Given the description of an element on the screen output the (x, y) to click on. 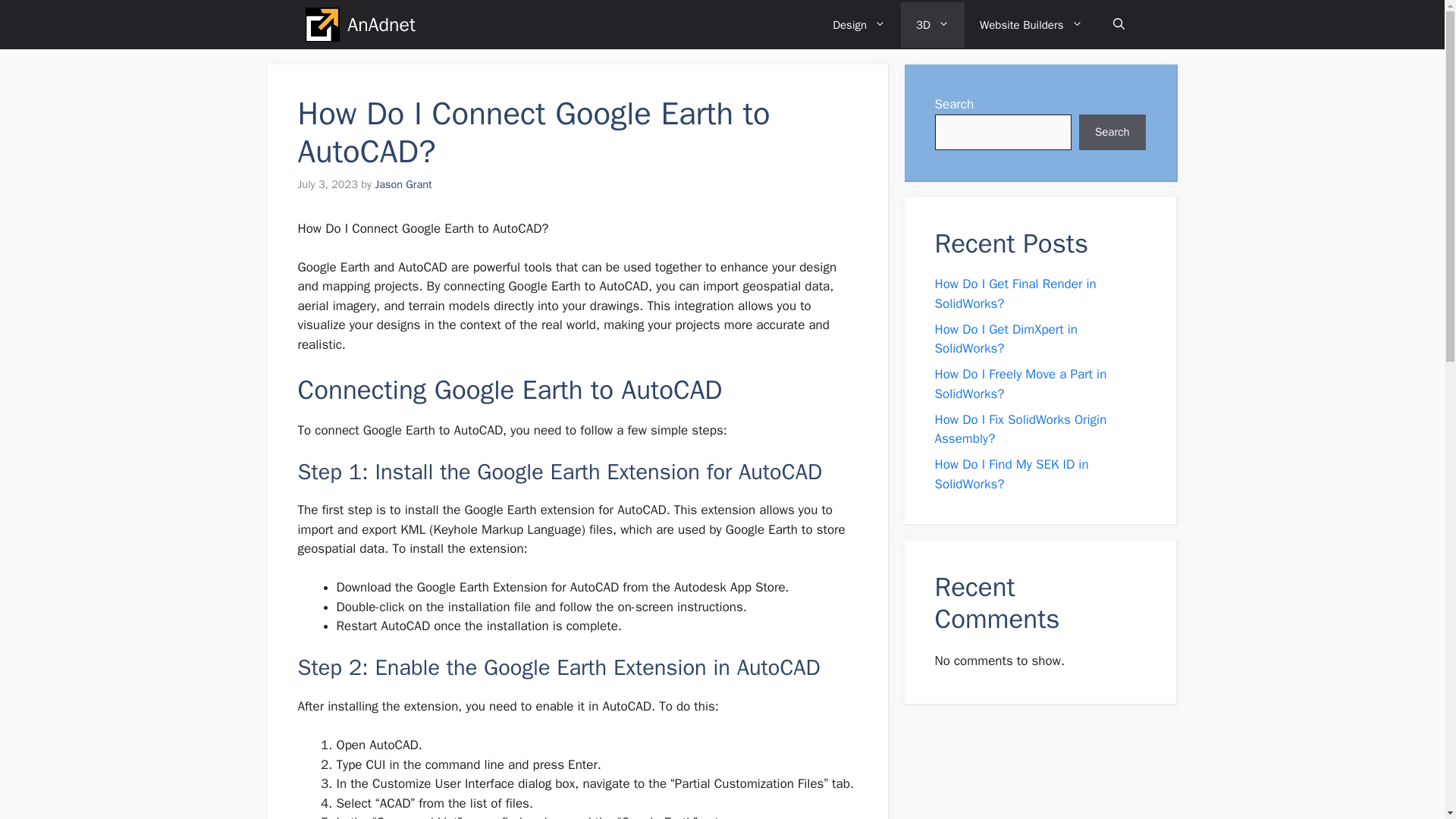
Website Builders (1030, 23)
How Do I Get Final Render in SolidWorks? (1015, 294)
View all posts by Jason Grant (402, 183)
AnAdnet (380, 24)
Design (858, 23)
How Do I Get DimXpert in SolidWorks? (1005, 339)
How Do I Find My SEK ID in SolidWorks? (1010, 474)
How Do I Freely Move a Part in SolidWorks? (1020, 384)
Search (1111, 131)
Jason Grant (402, 183)
